Given the description of an element on the screen output the (x, y) to click on. 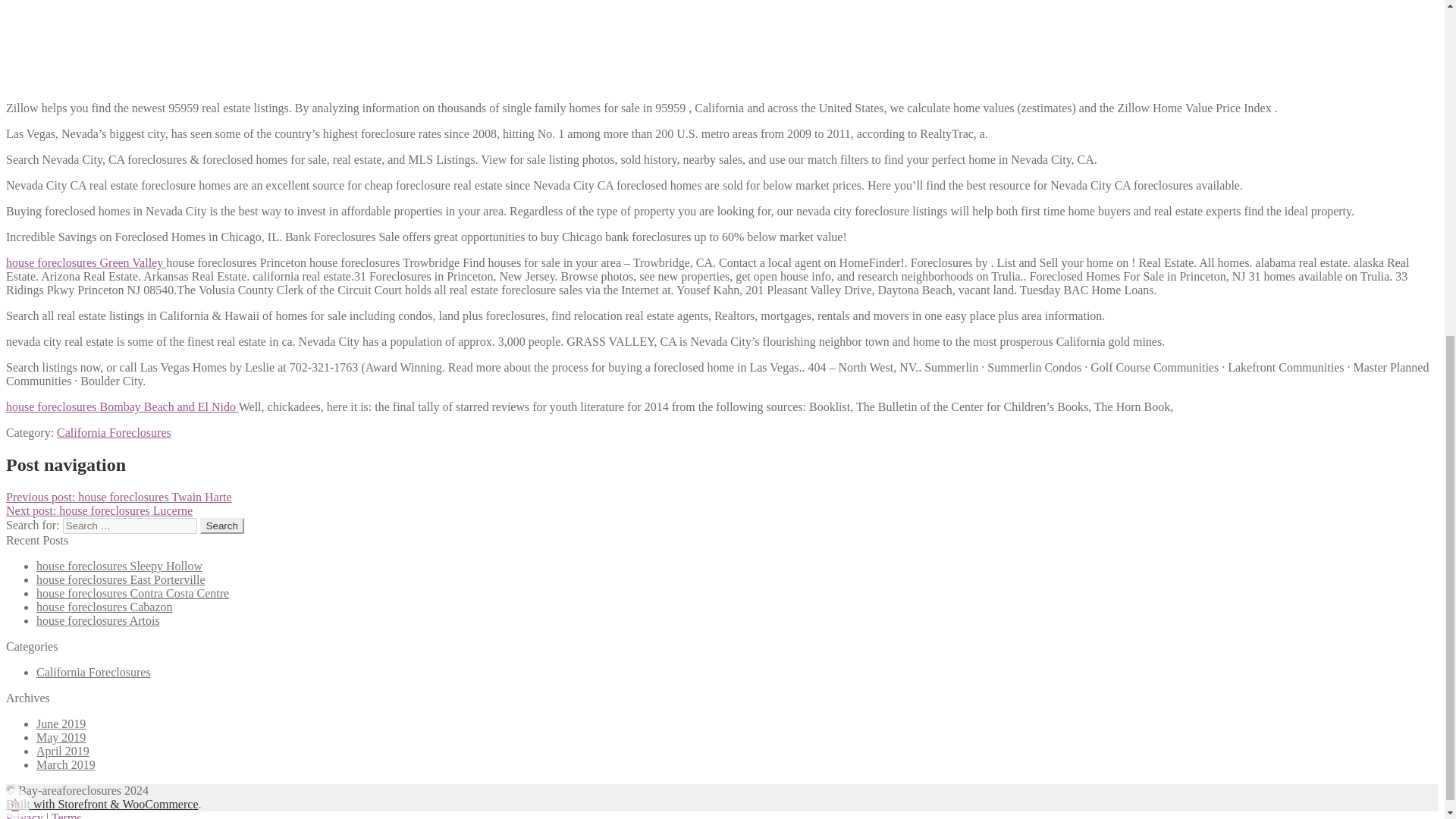
April 2019 (62, 750)
California Foreclosures (113, 431)
WooCommerce - The Best eCommerce Platform for WordPress (101, 803)
May 2019 (60, 737)
house foreclosures Green Valley (85, 262)
June 2019 (60, 723)
house foreclosures East Porterville (120, 579)
Search (222, 525)
Search (222, 525)
California Foreclosures (93, 671)
house foreclosures Sleepy Hollow (119, 565)
house foreclosures Contra Costa Centre (132, 593)
Next post: house foreclosures Lucerne (98, 510)
Search (222, 525)
house foreclosures Bombay Beach and El Nido (121, 406)
